Given the description of an element on the screen output the (x, y) to click on. 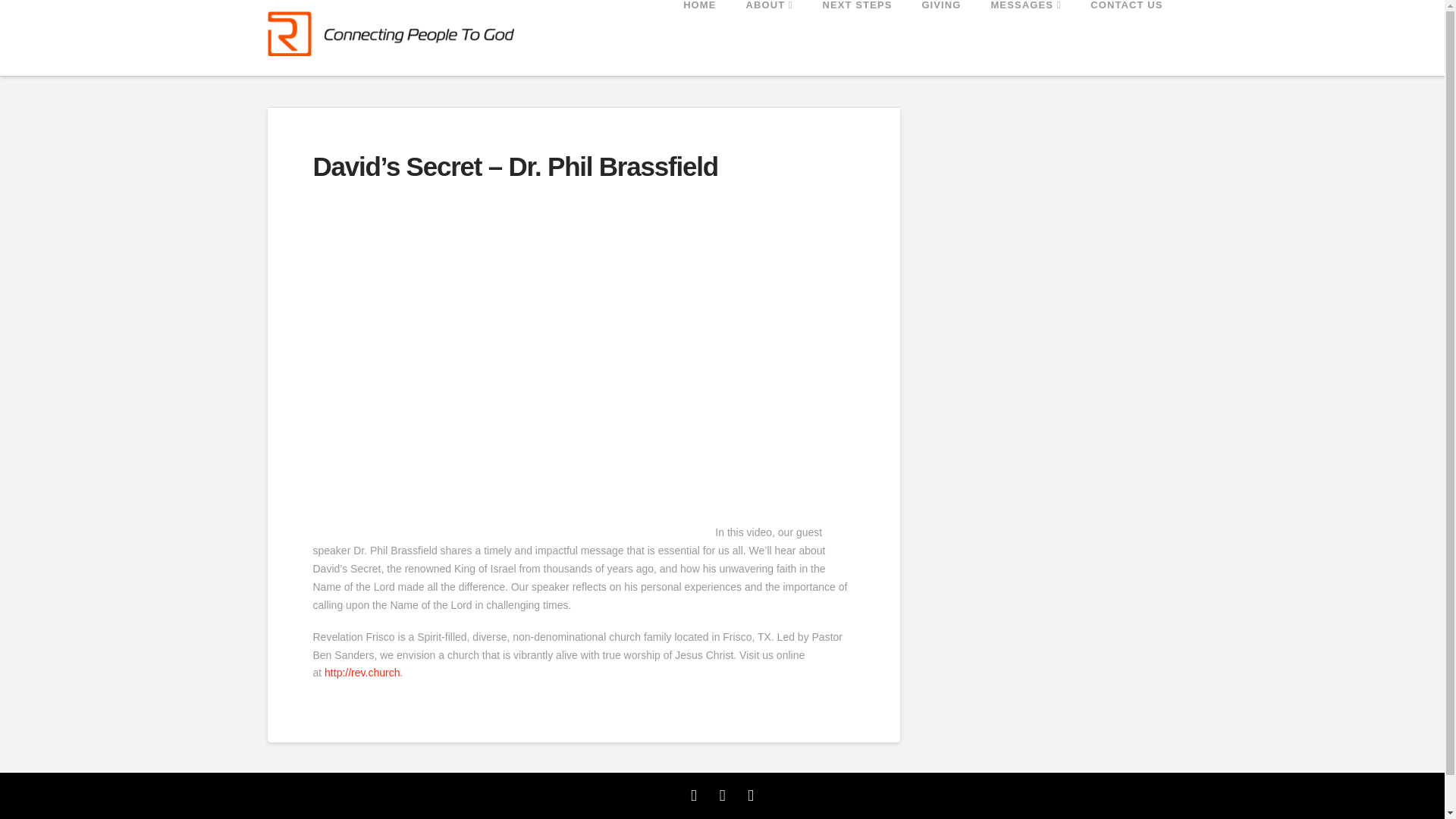
GIVING (940, 38)
NEXT STEPS (857, 38)
MESSAGES (1025, 38)
CONTACT US (1125, 38)
ABOUT (768, 38)
